Given the description of an element on the screen output the (x, y) to click on. 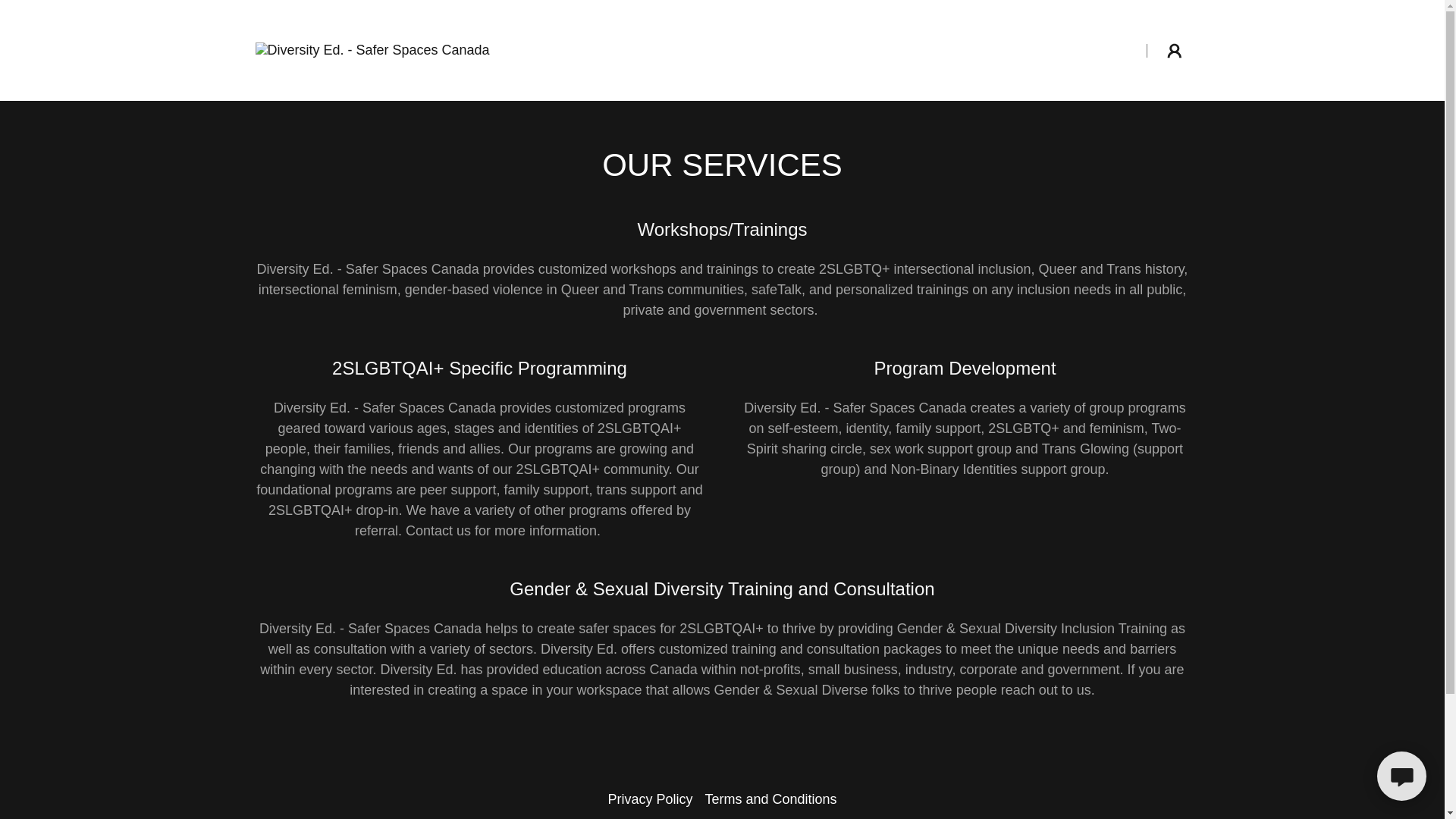
Diversity Ed. - Safer Spaces Canada (371, 49)
